Given the description of an element on the screen output the (x, y) to click on. 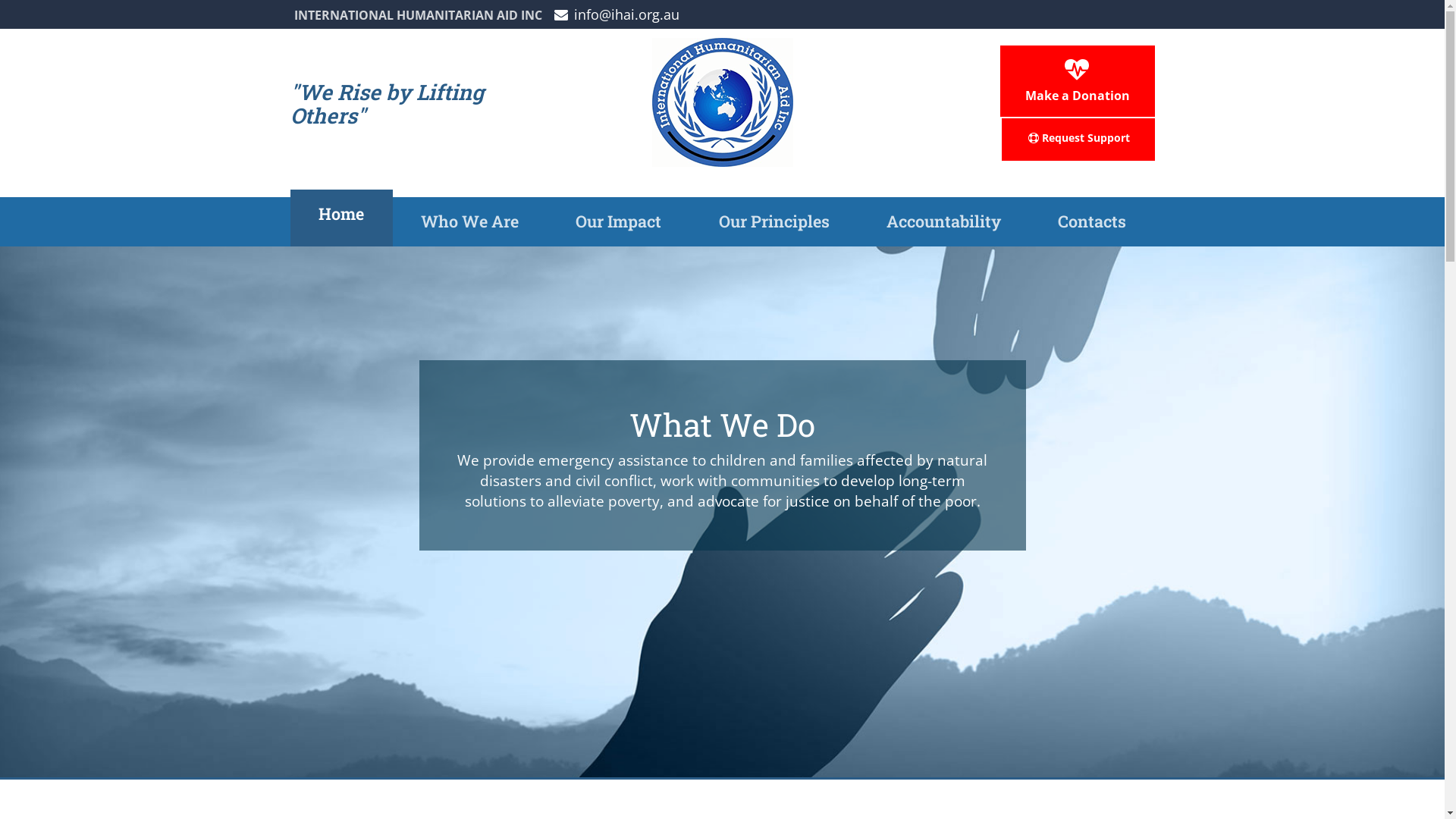
Who We Are Element type: text (128, 131)
Our Impact Element type: text (618, 221)
Home Element type: text (128, 89)
Accountability Element type: text (128, 256)
Contacts Element type: text (1091, 221)
Home Element type: text (340, 217)
Our Principles Element type: text (773, 221)
Our Principles Element type: text (128, 214)
Make a Donation Element type: text (1076, 80)
Accountability Element type: text (943, 221)
Request Support Element type: text (128, 443)
info@ihai.org.au Element type: text (615, 14)
Our Impact Element type: text (128, 173)
Contacts Element type: text (128, 298)
Donations Element type: text (128, 401)
Request Support Element type: text (1077, 139)
Who We Are Element type: text (469, 221)
